Given the description of an element on the screen output the (x, y) to click on. 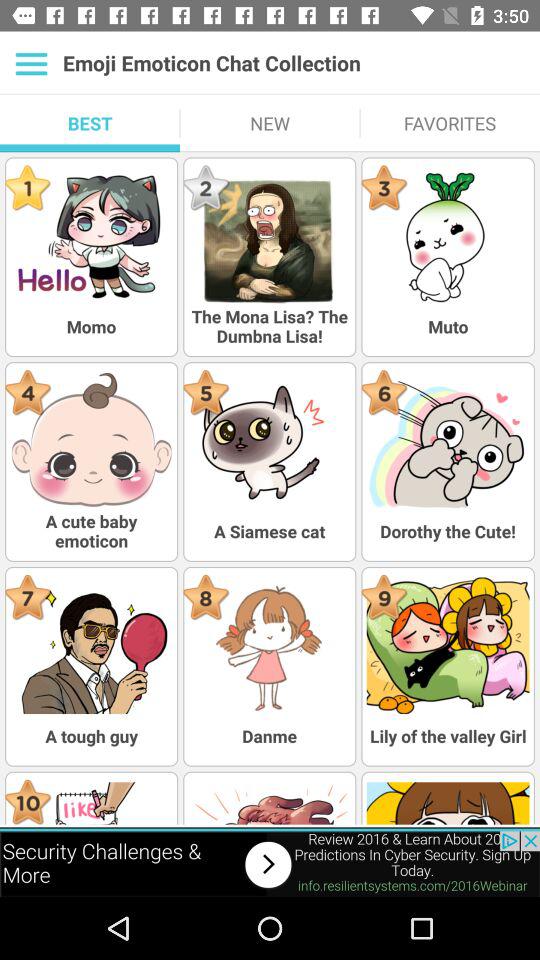
go to this website (270, 864)
